Given the description of an element on the screen output the (x, y) to click on. 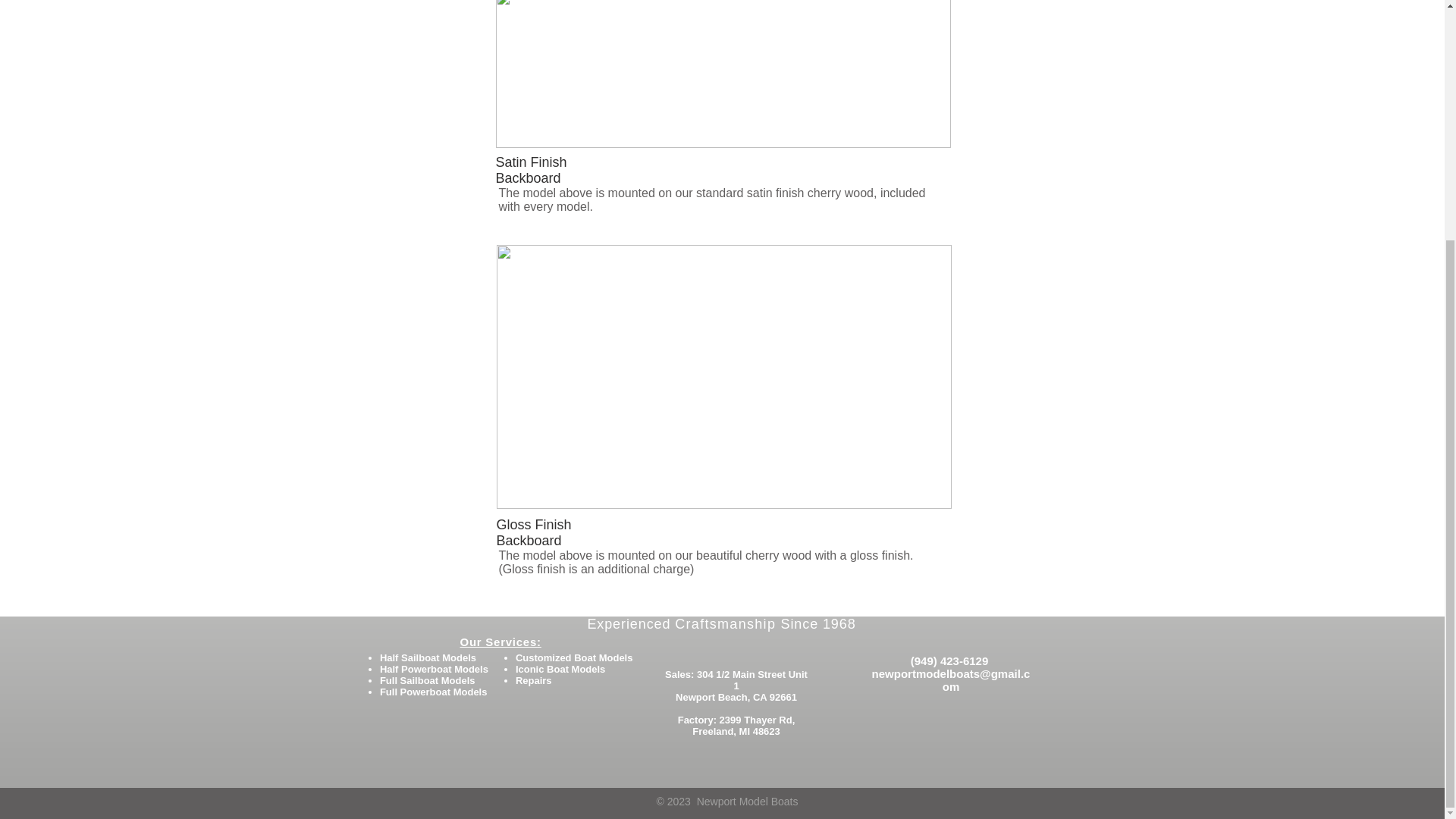
2399 Thayer Rd, Freeland, MI 48623 (743, 725)
